Given the description of an element on the screen output the (x, y) to click on. 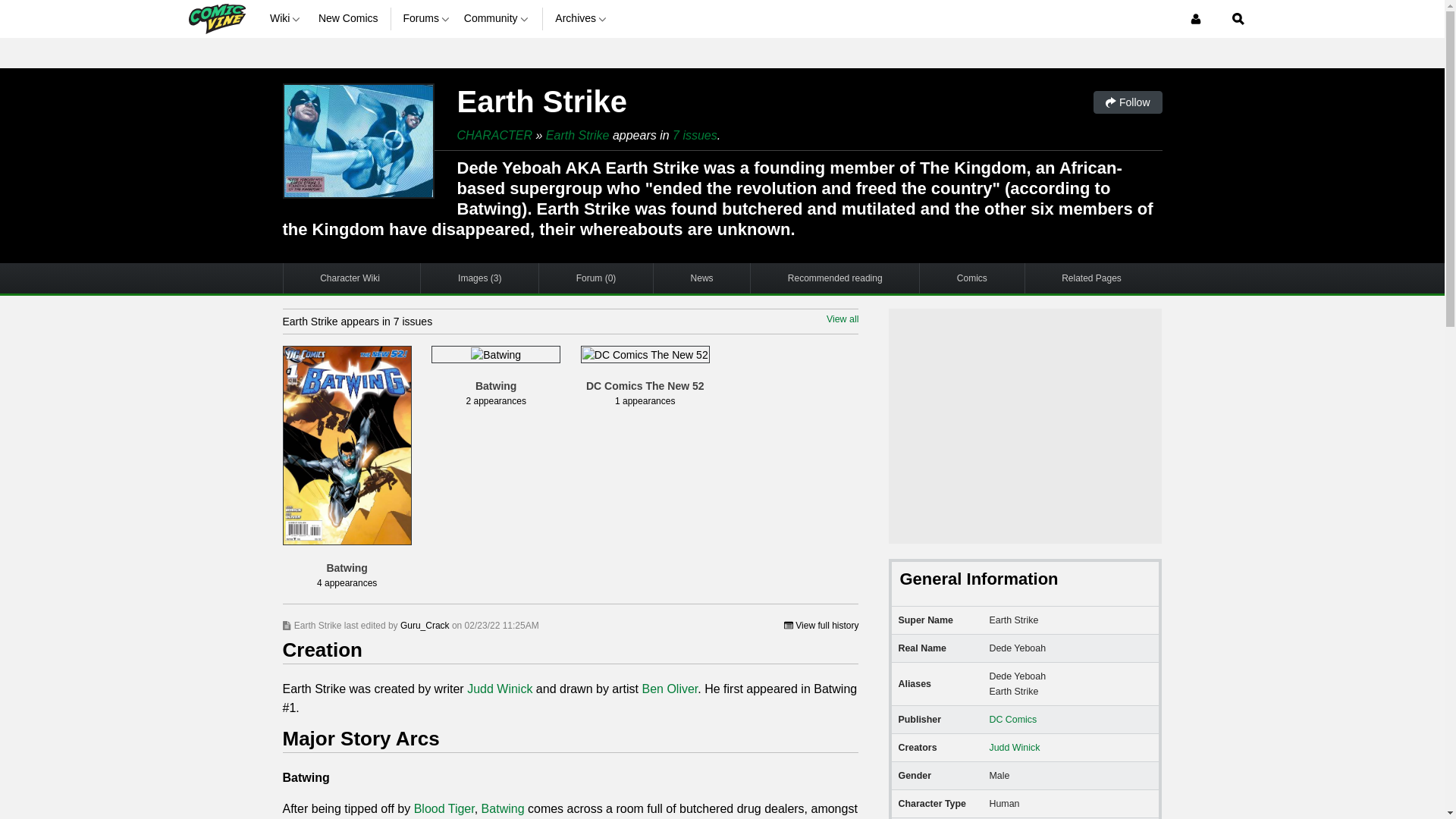
Community (497, 18)
Comic Vine (215, 18)
Wiki (287, 18)
Forums (427, 18)
New Comics (348, 18)
